Given the description of an element on the screen output the (x, y) to click on. 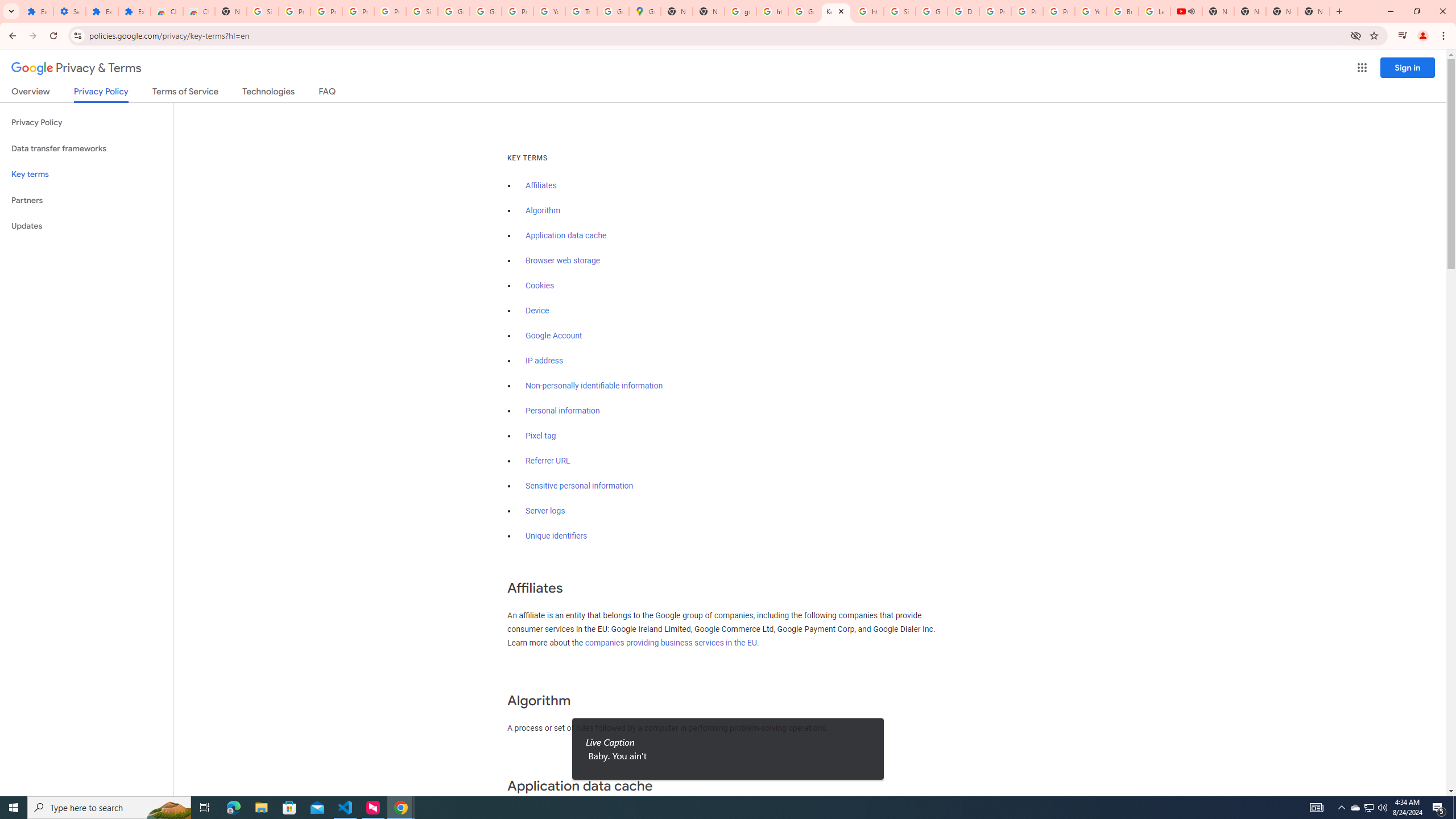
Server logs (544, 511)
Sign in - Google Accounts (262, 11)
Chrome Web Store - Themes (198, 11)
Non-personally identifiable information (593, 385)
Device (536, 311)
Application data cache (566, 235)
